Given the description of an element on the screen output the (x, y) to click on. 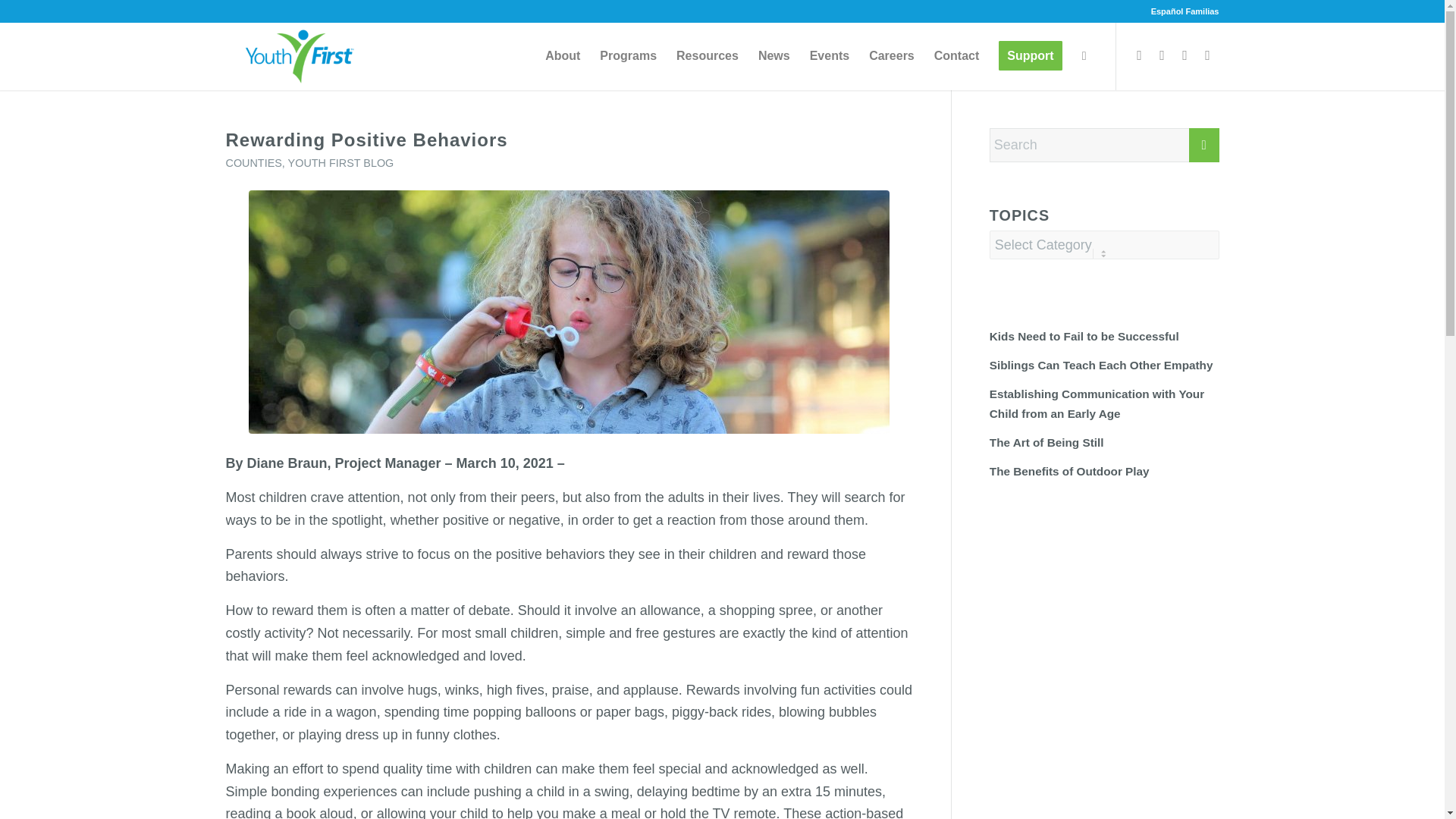
Programs (627, 56)
Youtube (1208, 55)
X (1162, 55)
Instagram (1184, 55)
Facebook (1139, 55)
